Given the description of an element on the screen output the (x, y) to click on. 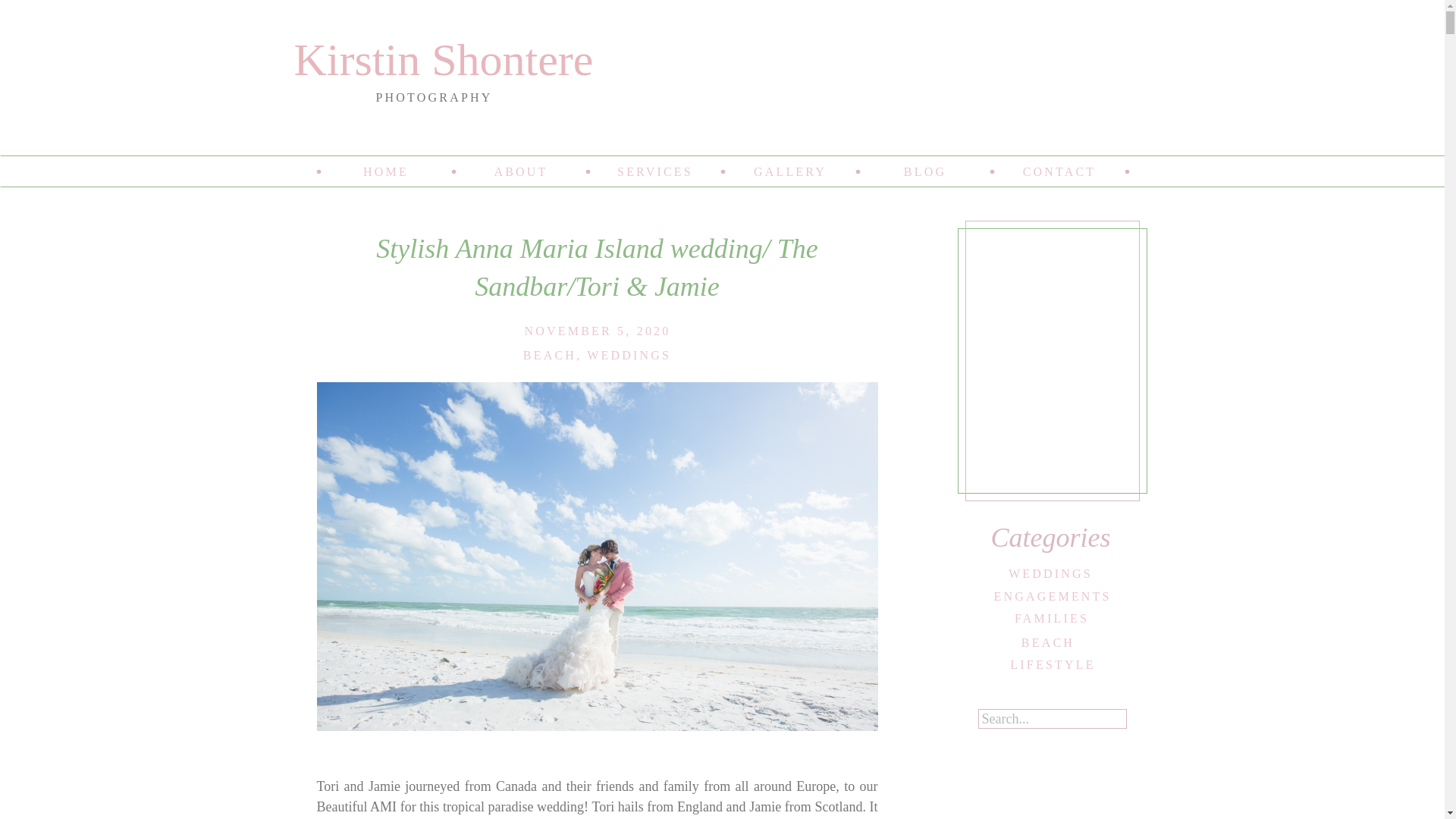
CONTACT (1058, 170)
FAMILIES (1051, 616)
BEACH (549, 354)
WEDDINGS (1051, 571)
WEDDINGS (628, 354)
BLOG (924, 170)
ABOUT (520, 170)
SERVICES (655, 170)
HOME (385, 170)
GALLERY (790, 170)
ENGAGEMENTS (1050, 594)
